Given the description of an element on the screen output the (x, y) to click on. 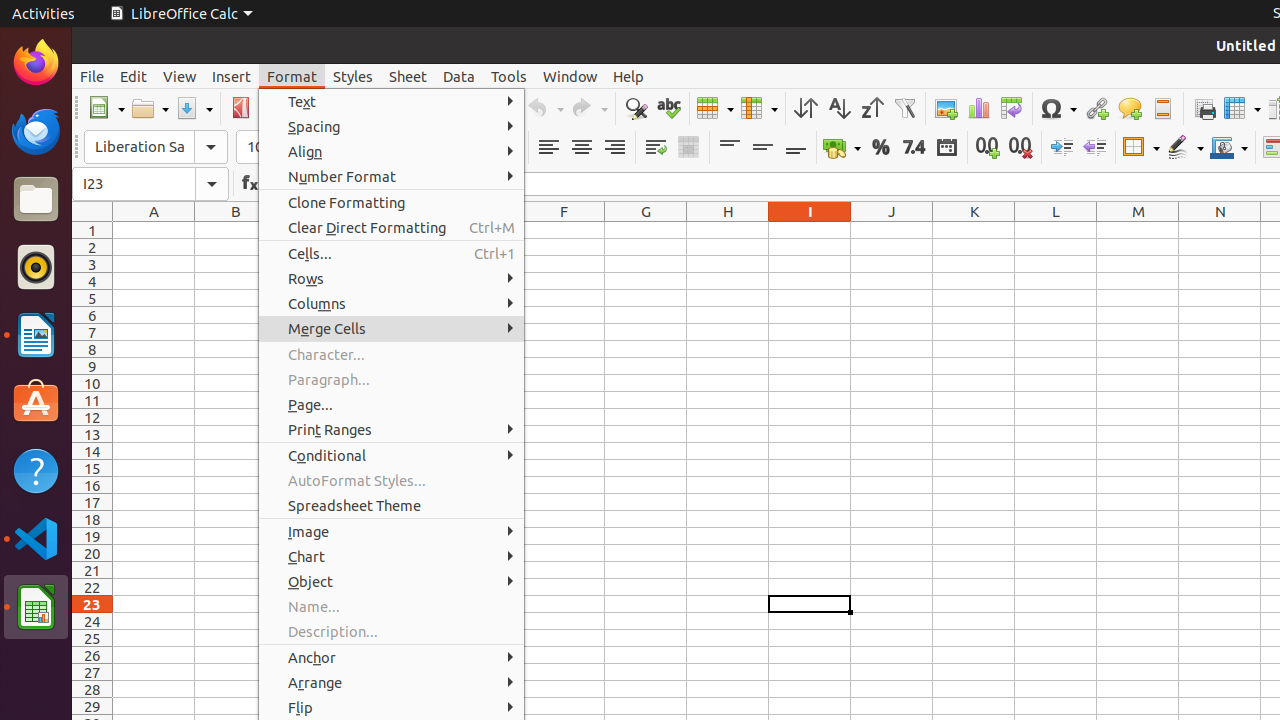
Percent Element type: push-button (880, 147)
Center Vertically Element type: push-button (762, 147)
Align Bottom Element type: push-button (795, 147)
Row Element type: push-button (715, 108)
Print Ranges Element type: menu (391, 429)
